Given the description of an element on the screen output the (x, y) to click on. 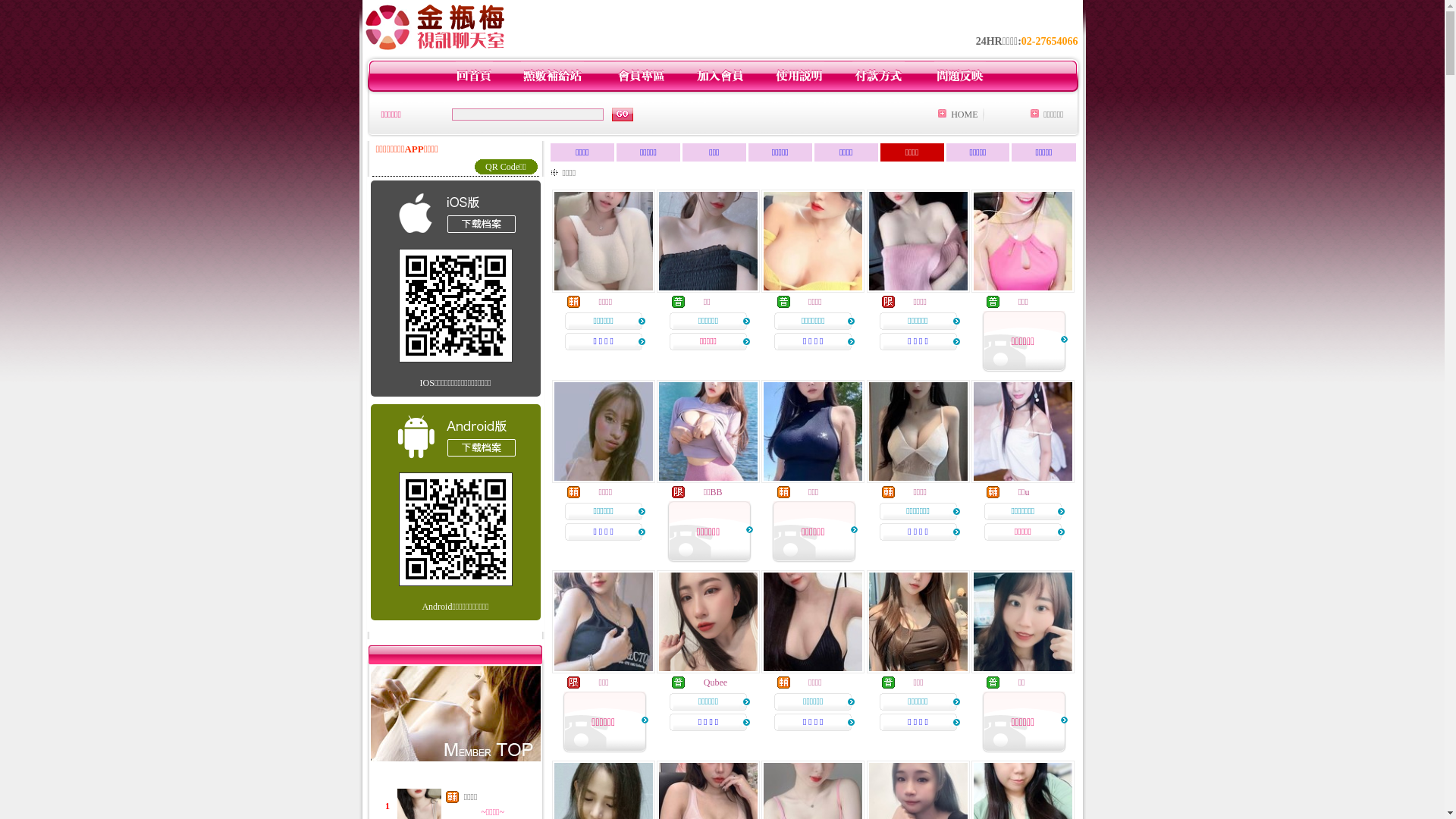
Qubee Element type: text (715, 682)
HOME Element type: text (963, 114)
